Given the description of an element on the screen output the (x, y) to click on. 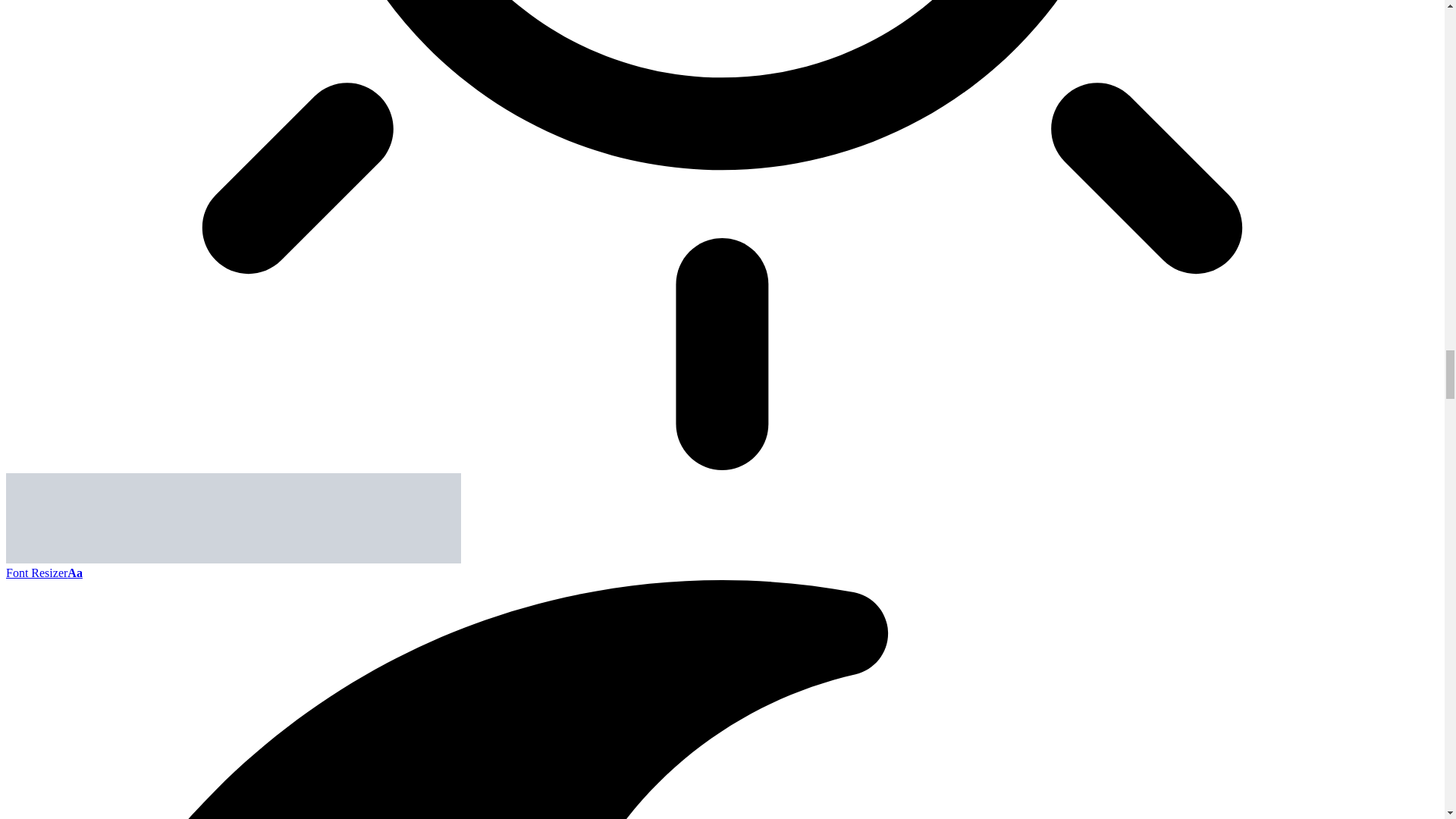
Health Works Collective (233, 558)
